Given the description of an element on the screen output the (x, y) to click on. 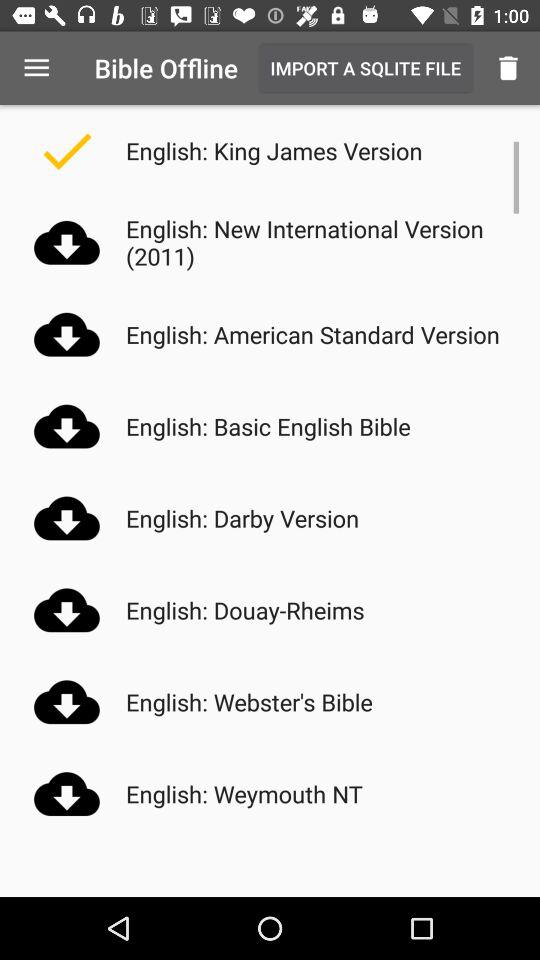
turn on icon next to bible offline (365, 67)
